Given the description of an element on the screen output the (x, y) to click on. 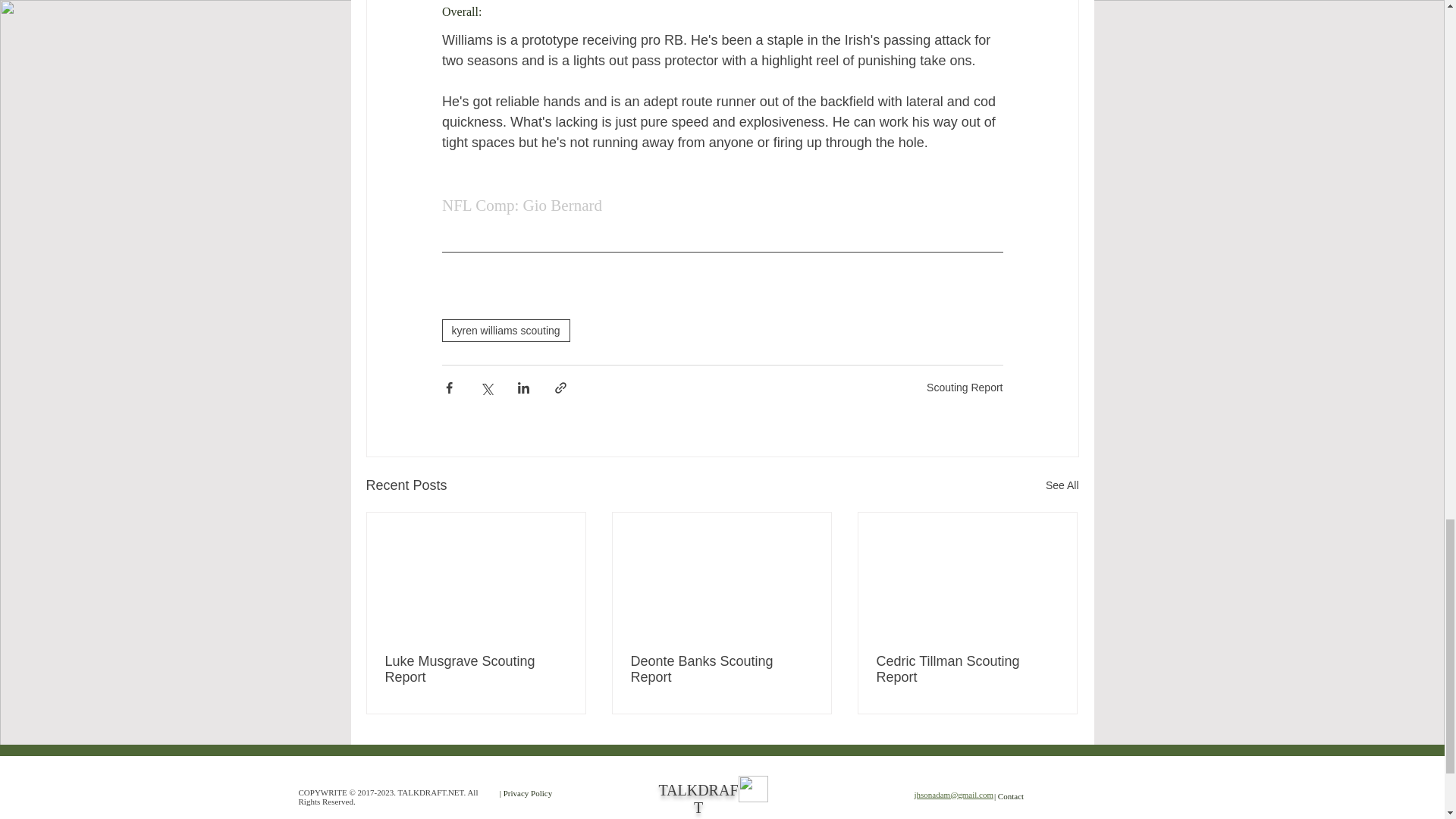
kyren williams scouting (505, 330)
Deonte Banks Scouting Report (721, 669)
See All (1061, 485)
Luke Musgrave Scouting Report (476, 669)
Scouting Report (964, 387)
Cedric Tillman Scouting Report (967, 669)
